Given the description of an element on the screen output the (x, y) to click on. 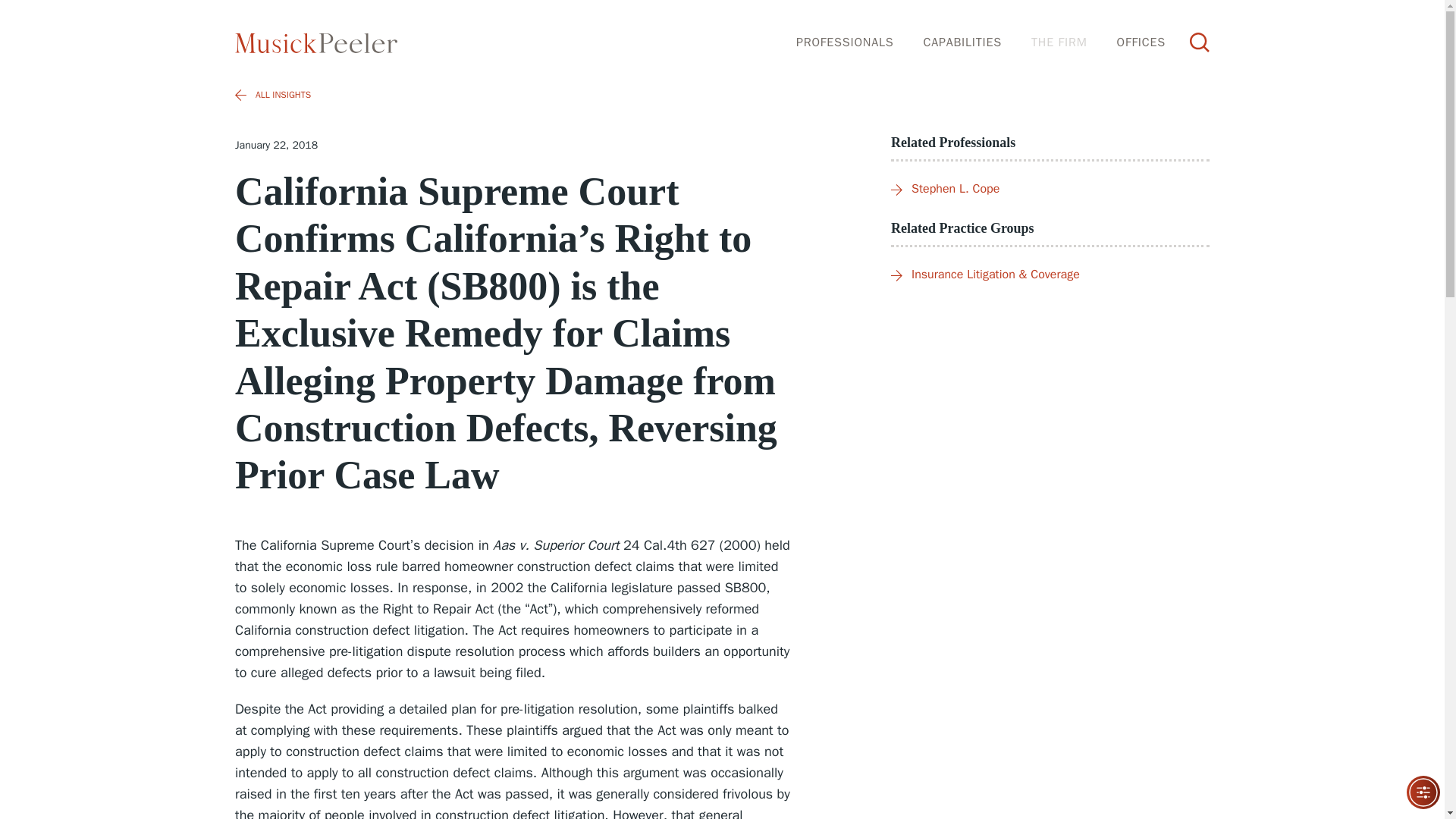
PROFESSIONALS (844, 42)
Accessibility Menu (1422, 792)
